Given the description of an element on the screen output the (x, y) to click on. 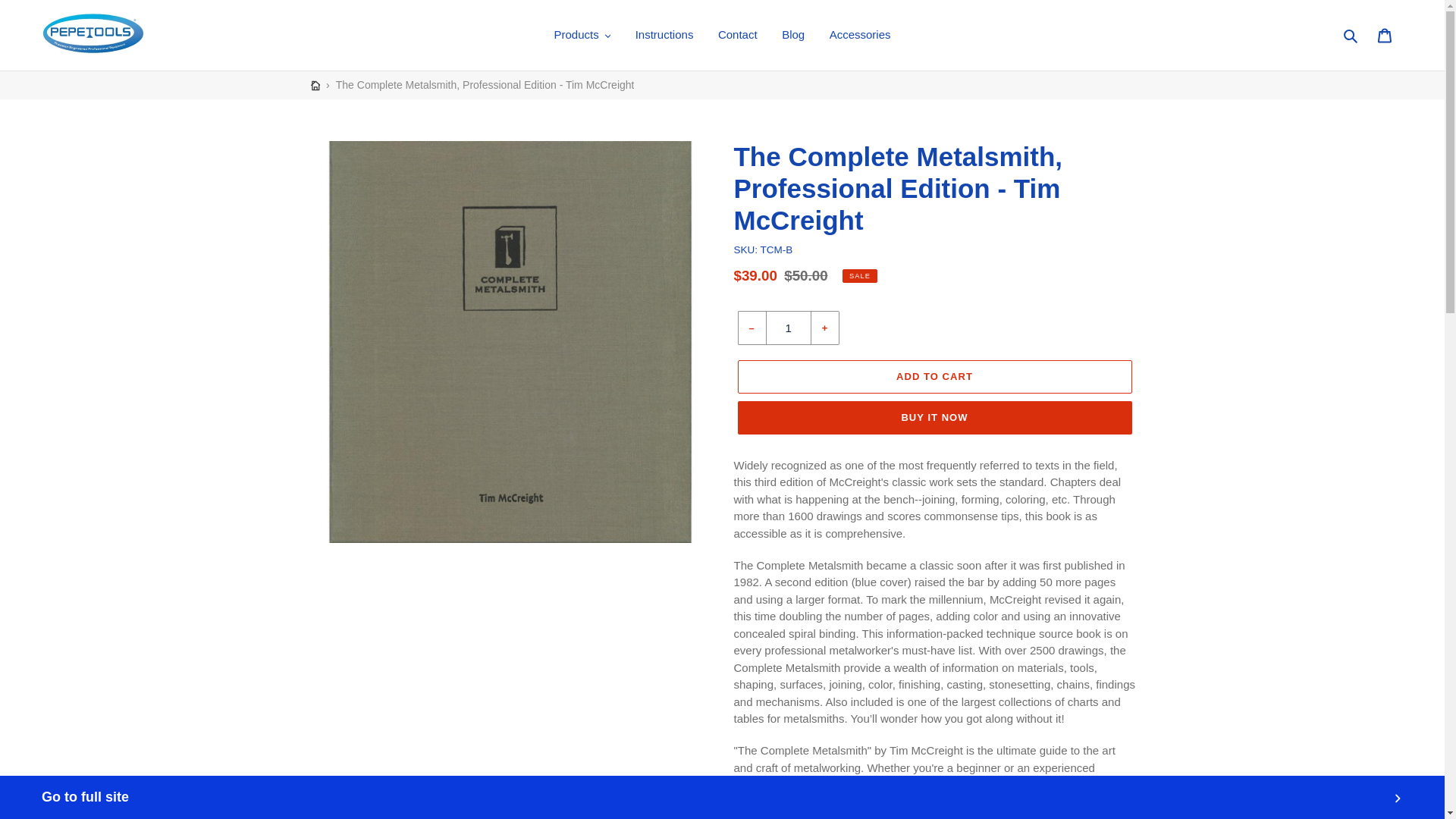
Contact (737, 34)
Instructions (664, 34)
Accessories (860, 34)
Blog (793, 34)
1 (787, 327)
Products (581, 34)
